Given the description of an element on the screen output the (x, y) to click on. 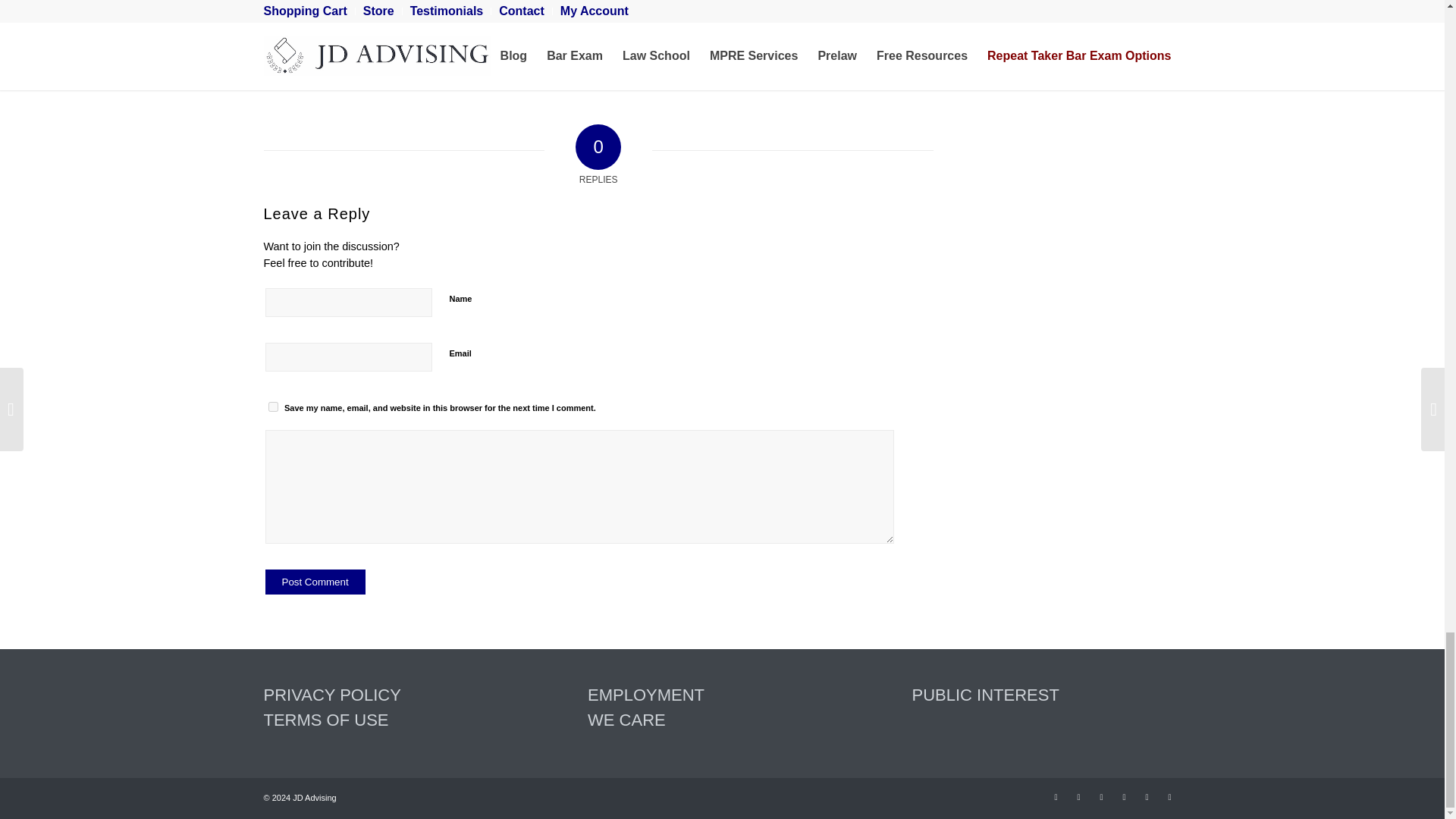
Post Comment (314, 581)
Pinterest (1101, 796)
Self-Care During Stressful Times: Strategies for Bar Takers (367, 38)
Post-bar exam checklist (577, 38)
Facebook (1056, 796)
How to Calm Down After the Bar Exam (787, 38)
X (1078, 796)
Preparing for the Next Steps: Post-Bar Exam Checklist (577, 38)
Self-care (367, 38)
LinkedIn (1124, 796)
